Given the description of an element on the screen output the (x, y) to click on. 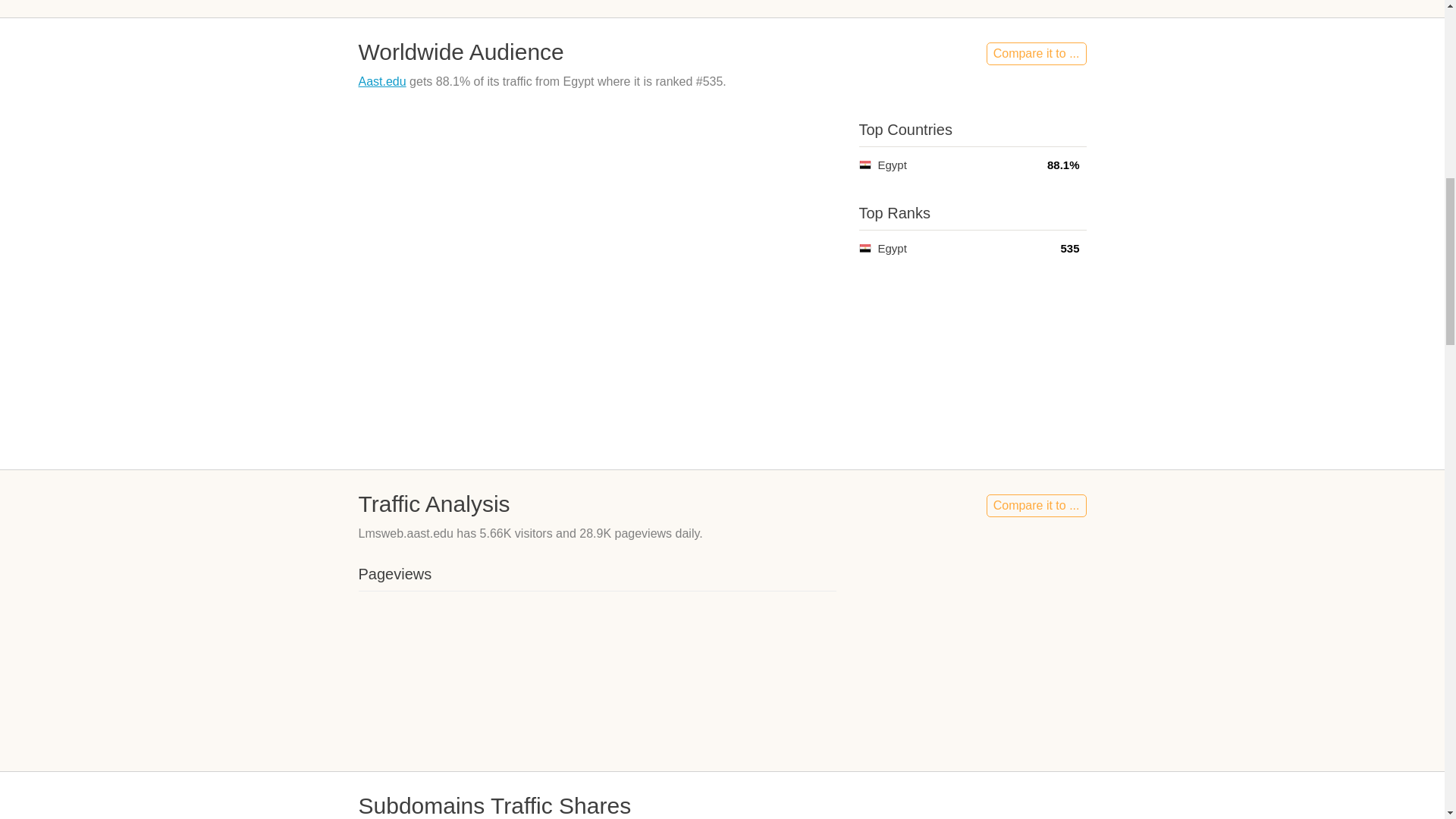
Egypt (864, 248)
Aast.edu (382, 81)
Egypt (864, 164)
Compare it to ... (1036, 505)
Compare it to ... (1036, 53)
